Given the description of an element on the screen output the (x, y) to click on. 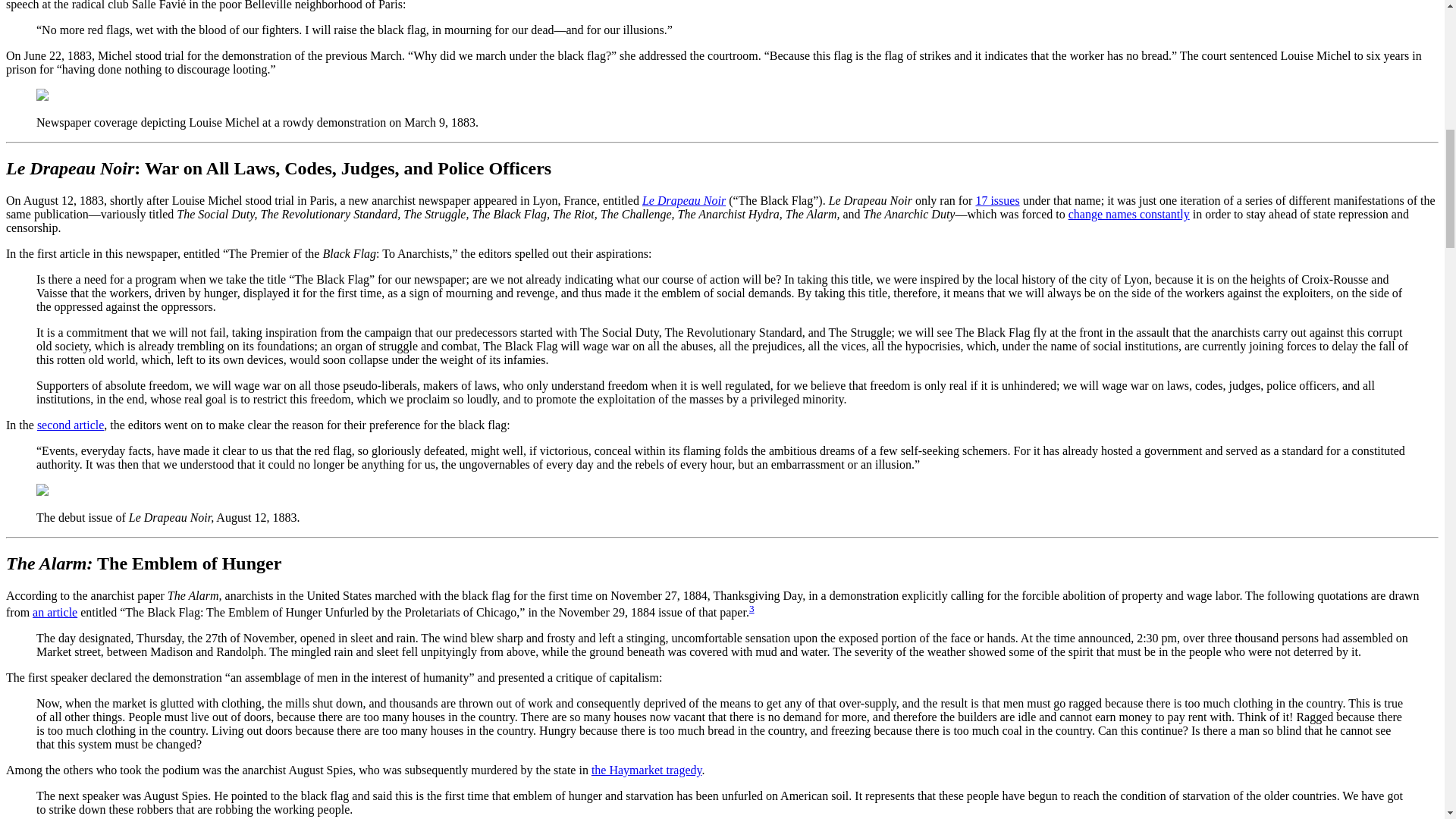
Le Drapeau Noir (683, 200)
the Haymarket tragedy (646, 769)
change names constantly (1128, 214)
an article (54, 612)
17 issues (997, 200)
second article (70, 424)
